Given the description of an element on the screen output the (x, y) to click on. 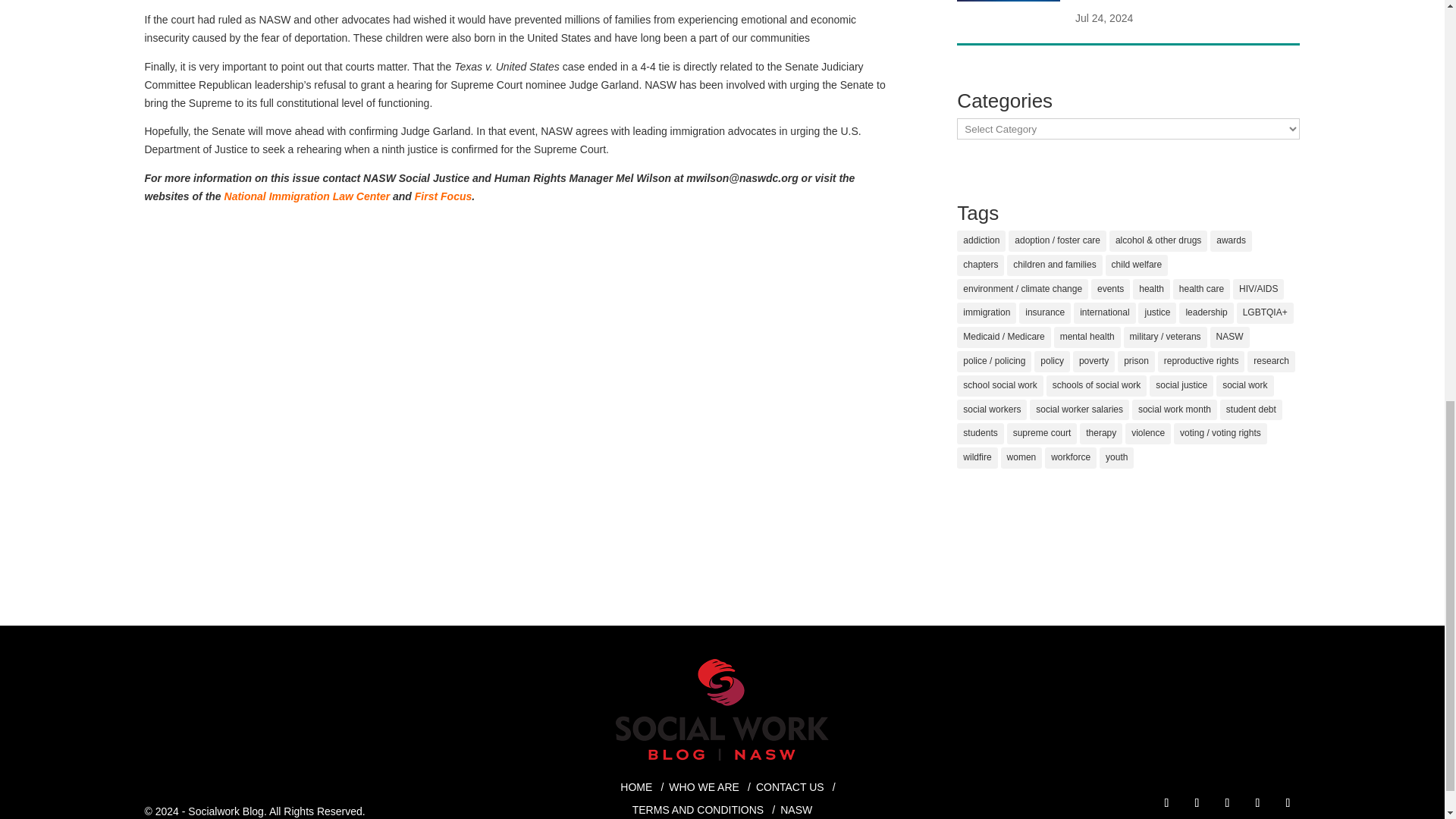
Follow on Facebook (1165, 802)
Follow on X (1256, 802)
Follow on Youtube (1287, 802)
chapters (980, 265)
National Immigration Law Center (307, 196)
Follow on LinkedIn (1226, 802)
child welfare (1137, 265)
children and families (1054, 265)
First Focus (442, 196)
awards (1230, 240)
addiction (981, 240)
Follow on Instagram (1196, 802)
